Given the description of an element on the screen output the (x, y) to click on. 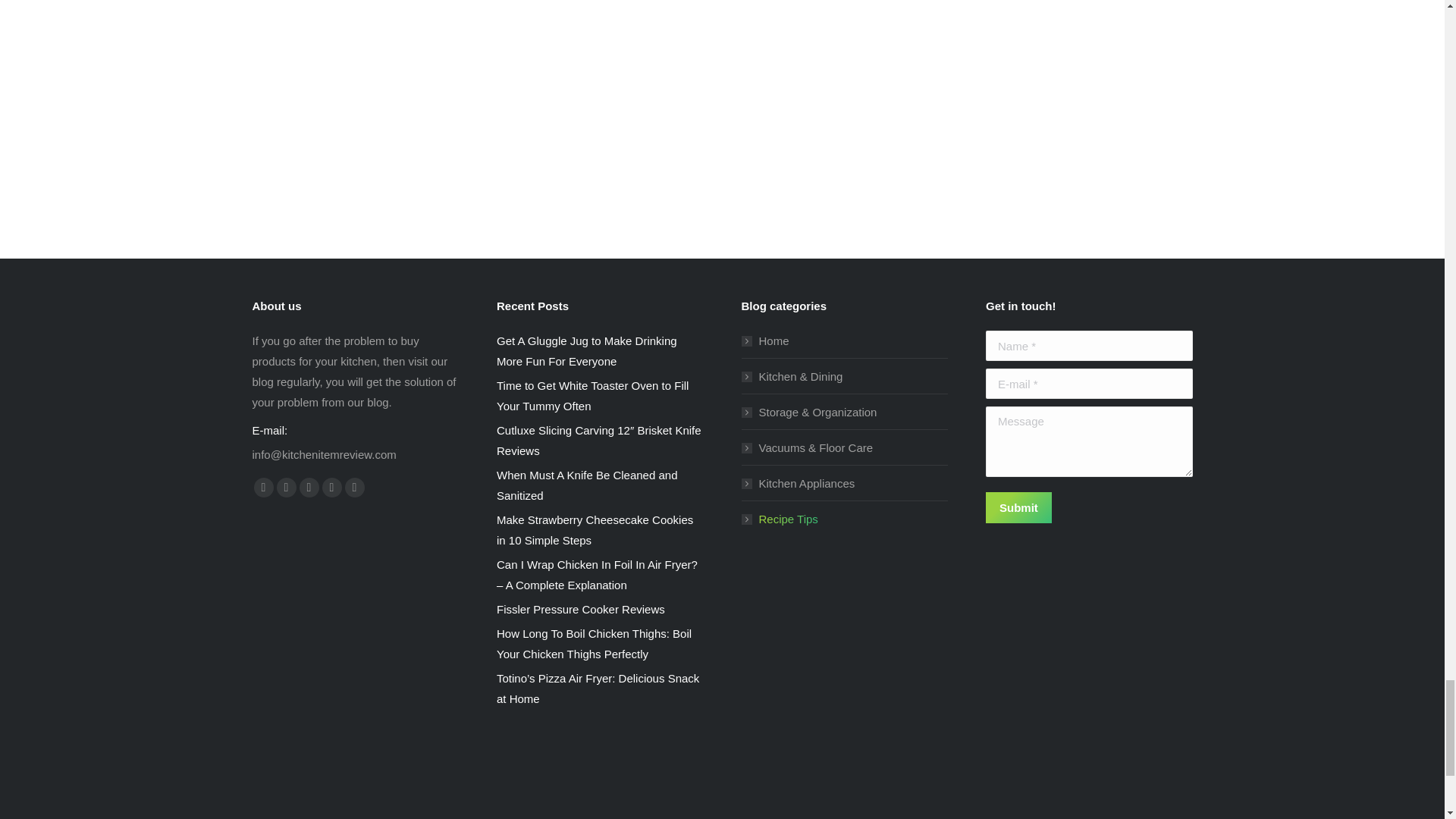
submit (1092, 509)
